Given the description of an element on the screen output the (x, y) to click on. 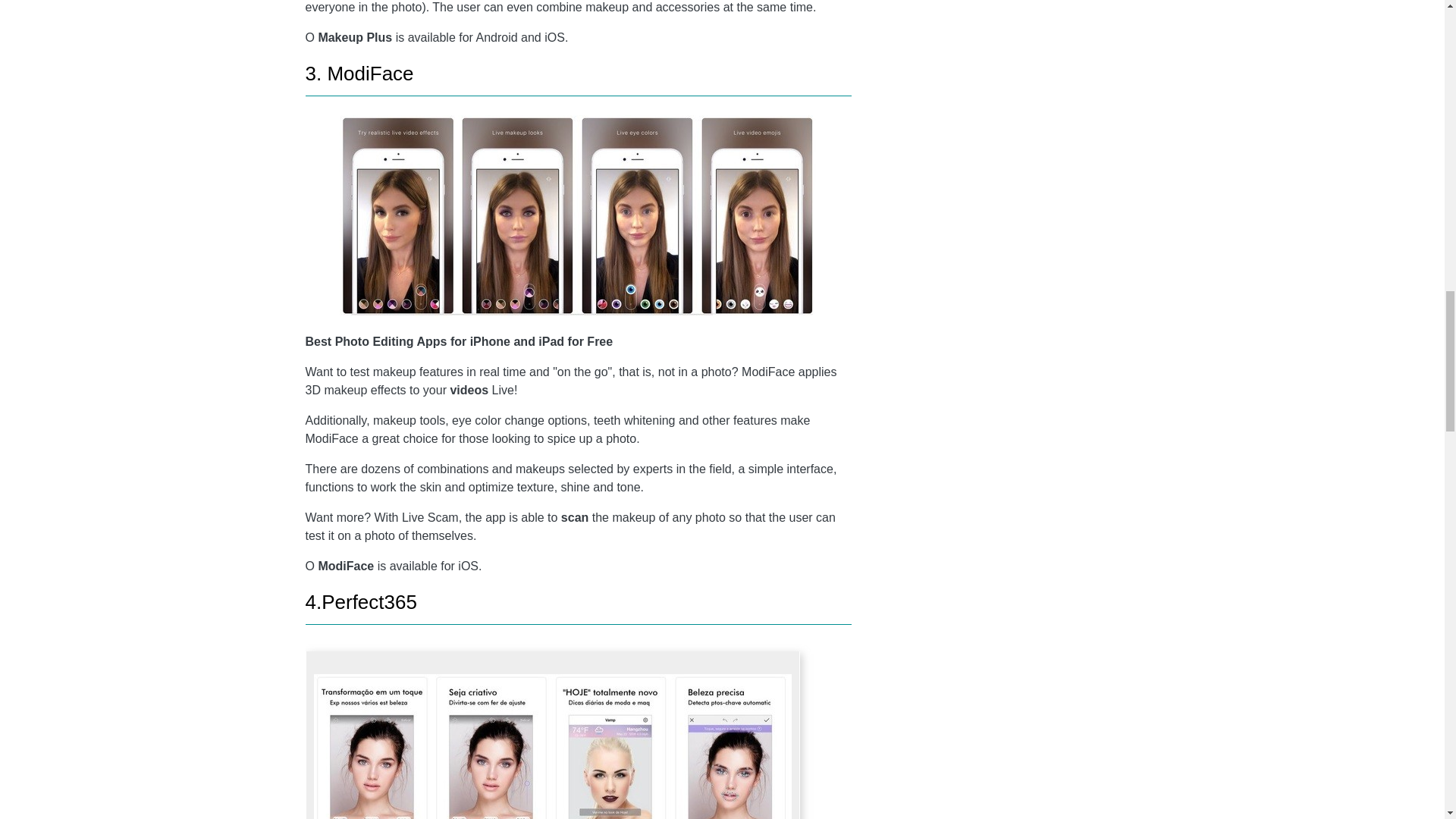
3. ModiFace (358, 73)
4.Perfect365 (360, 601)
